Given the description of an element on the screen output the (x, y) to click on. 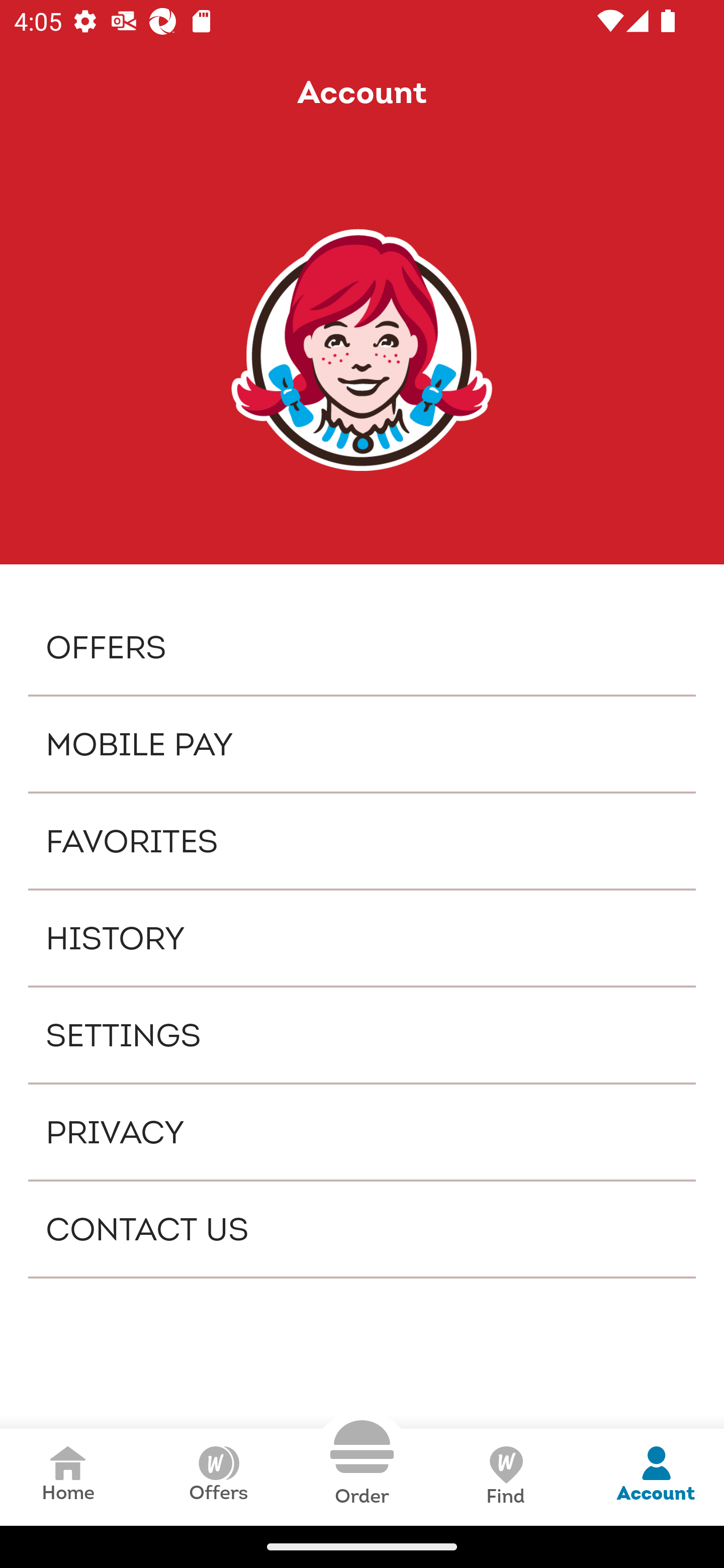
OFFERS Offers,1 of 8 (361, 646)
MOBILE PAY Mobile Pay,2 of 8 (361, 743)
FAVORITES Favorites,3 of 8 (361, 841)
HISTORY History,5 of 8 (361, 938)
SETTINGS Settings,6 of 8 (361, 1034)
PRIVACY Privacy,7 of 8 (361, 1132)
CONTACT US contact us,8 of 8 (361, 1229)
Order,3 of 5 Order (361, 1463)
Home,1 of 5 Home (68, 1476)
Rewards,2 of 5 Offers Offers (218, 1476)
Scan,4 of 5 Find Find (505, 1476)
Account,5 of 5 Account (655, 1476)
